Given the description of an element on the screen output the (x, y) to click on. 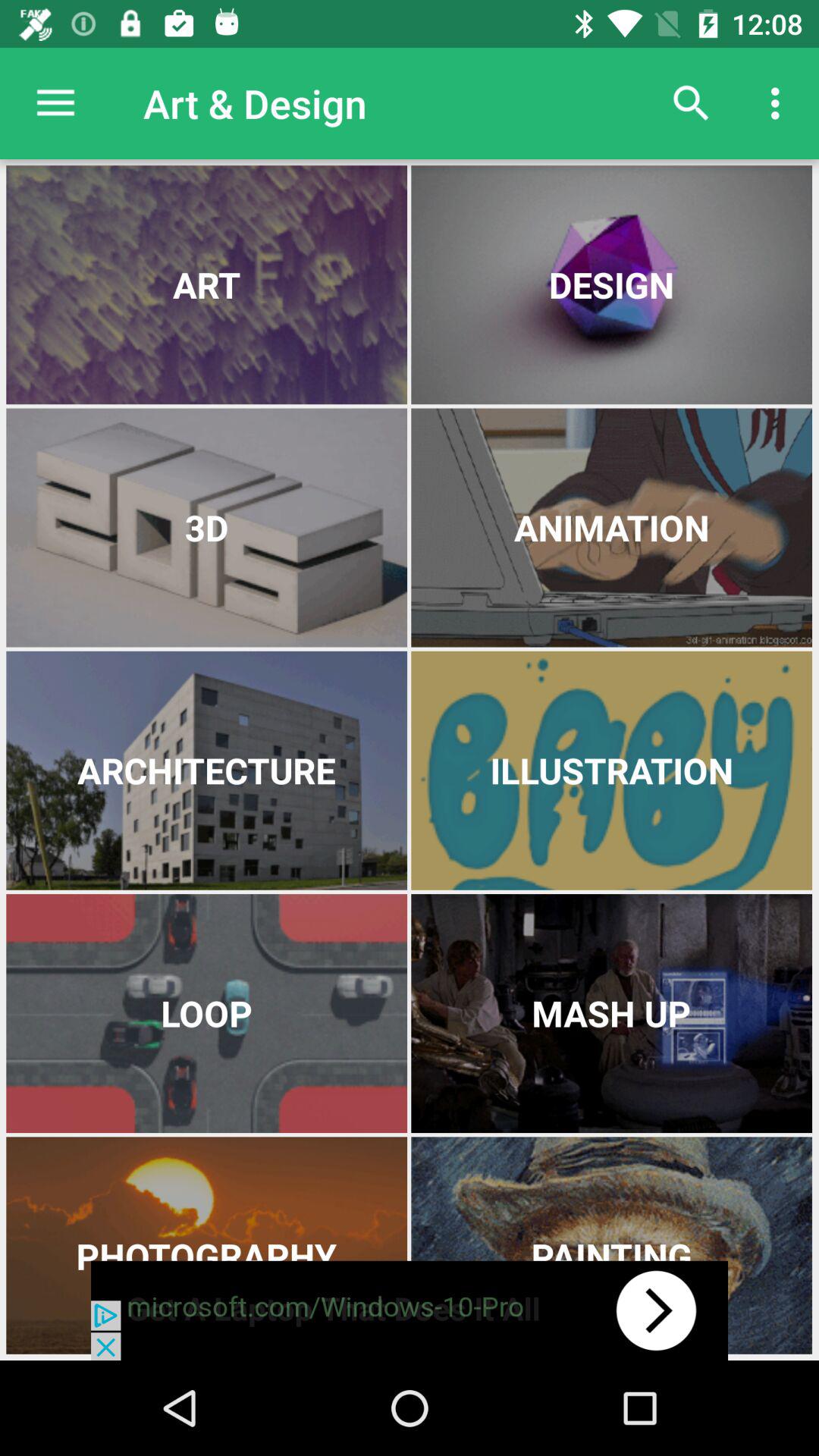
go to advertisement (409, 1310)
